Given the description of an element on the screen output the (x, y) to click on. 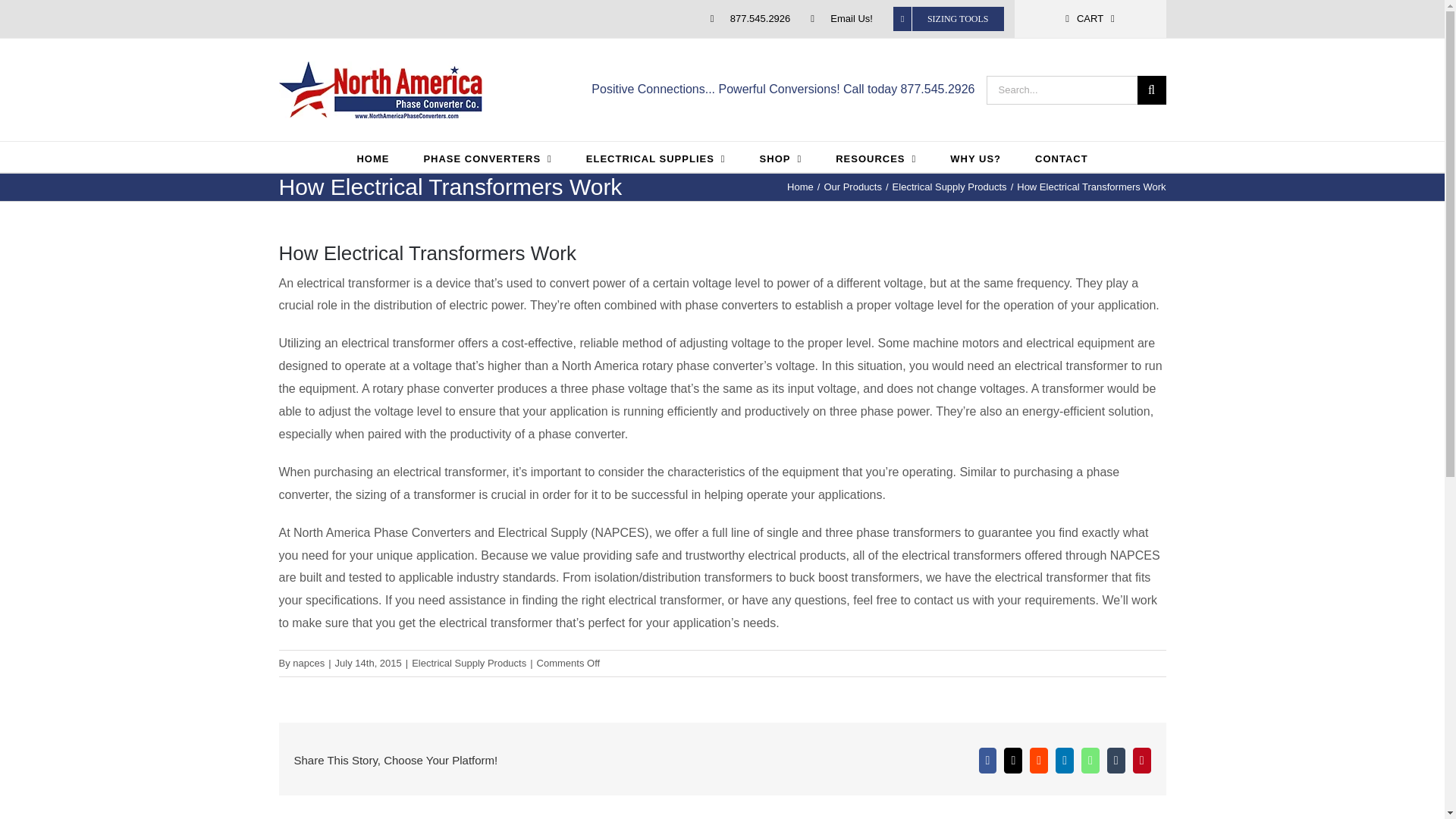
Email Us! (841, 18)
HOME (372, 156)
CART (1090, 18)
SHOP (781, 156)
PHASE CONVERTERS (487, 156)
SIZING TOOLS (948, 18)
Posts by napces (308, 663)
ELECTRICAL SUPPLIES (655, 156)
RESOURCES (875, 156)
877.545.2926 (750, 18)
